Given the description of an element on the screen output the (x, y) to click on. 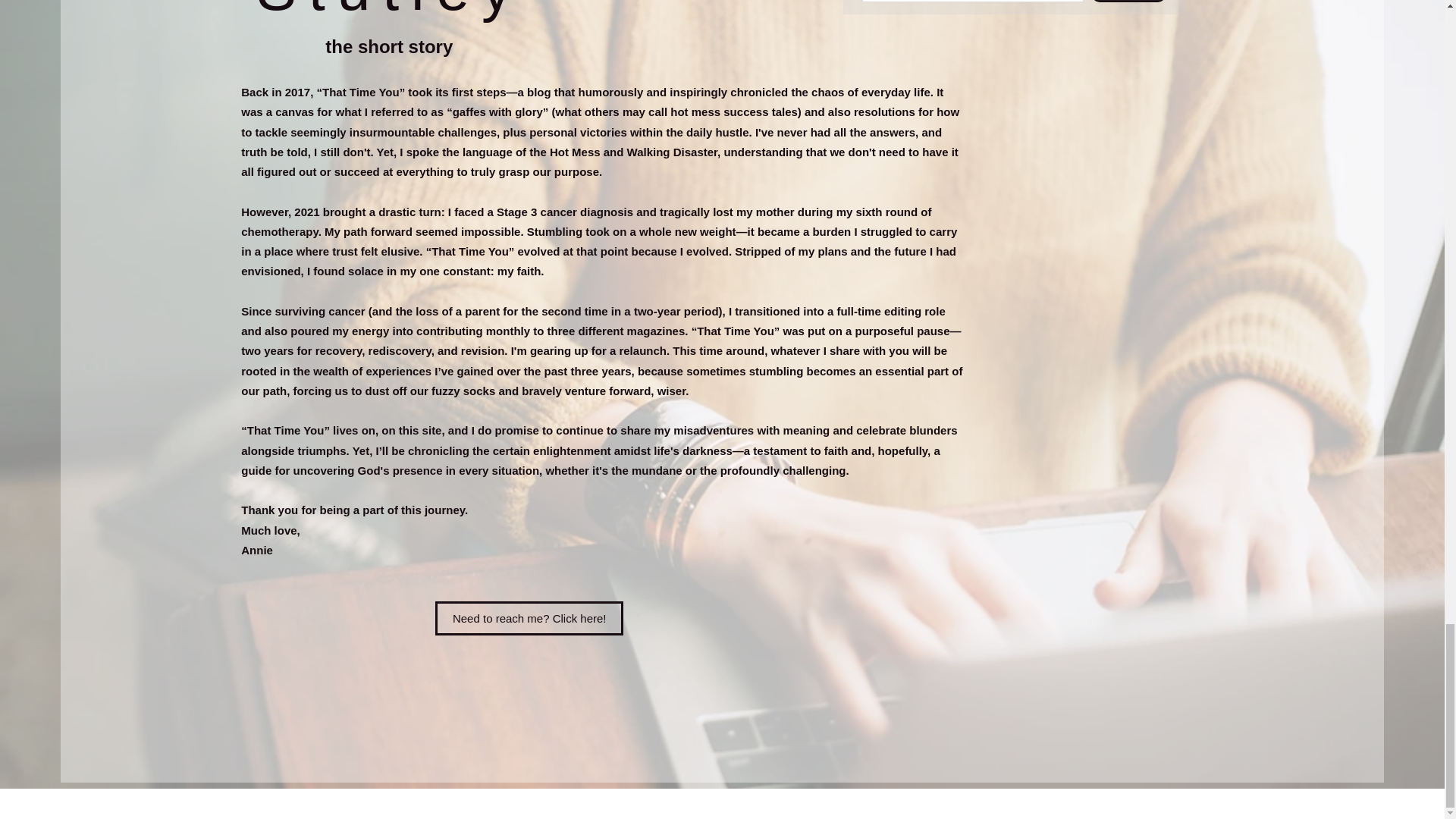
1 (937, 556)
Post not marked as liked (555, 556)
0 (1050, 556)
Post not marked as liked (445, 556)
See All (995, 237)
0 (1061, 320)
Grief (691, 556)
